Given the description of an element on the screen output the (x, y) to click on. 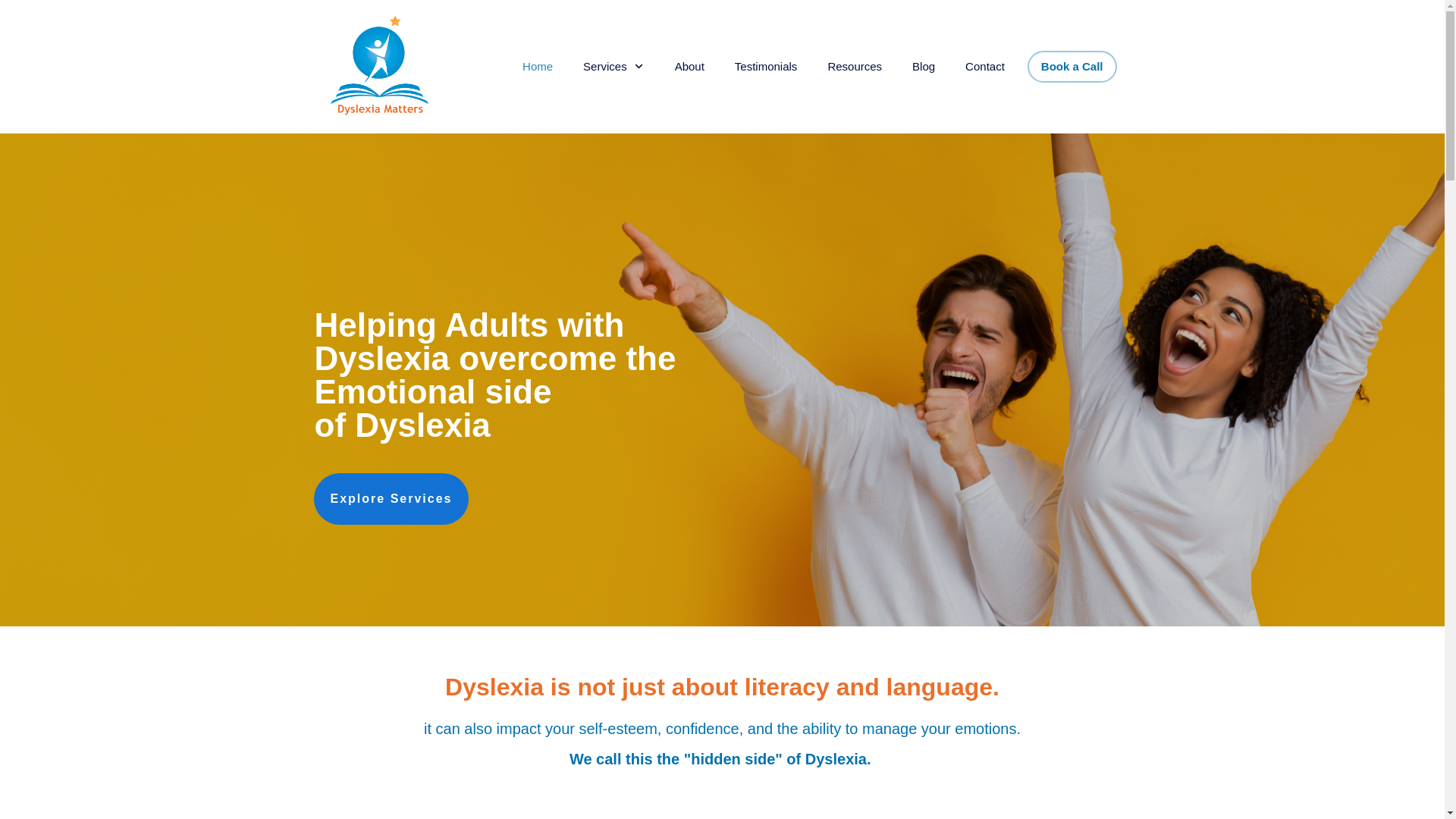
Blog Element type: text (923, 66)
Home Element type: text (537, 66)
Services Element type: text (613, 66)
Explore Services Element type: text (391, 498)
Resources Element type: text (854, 66)
Testimonials Element type: text (765, 66)
About Element type: text (689, 66)
Contact Element type: text (984, 66)
Book a Call Element type: text (1072, 66)
